Given the description of an element on the screen output the (x, y) to click on. 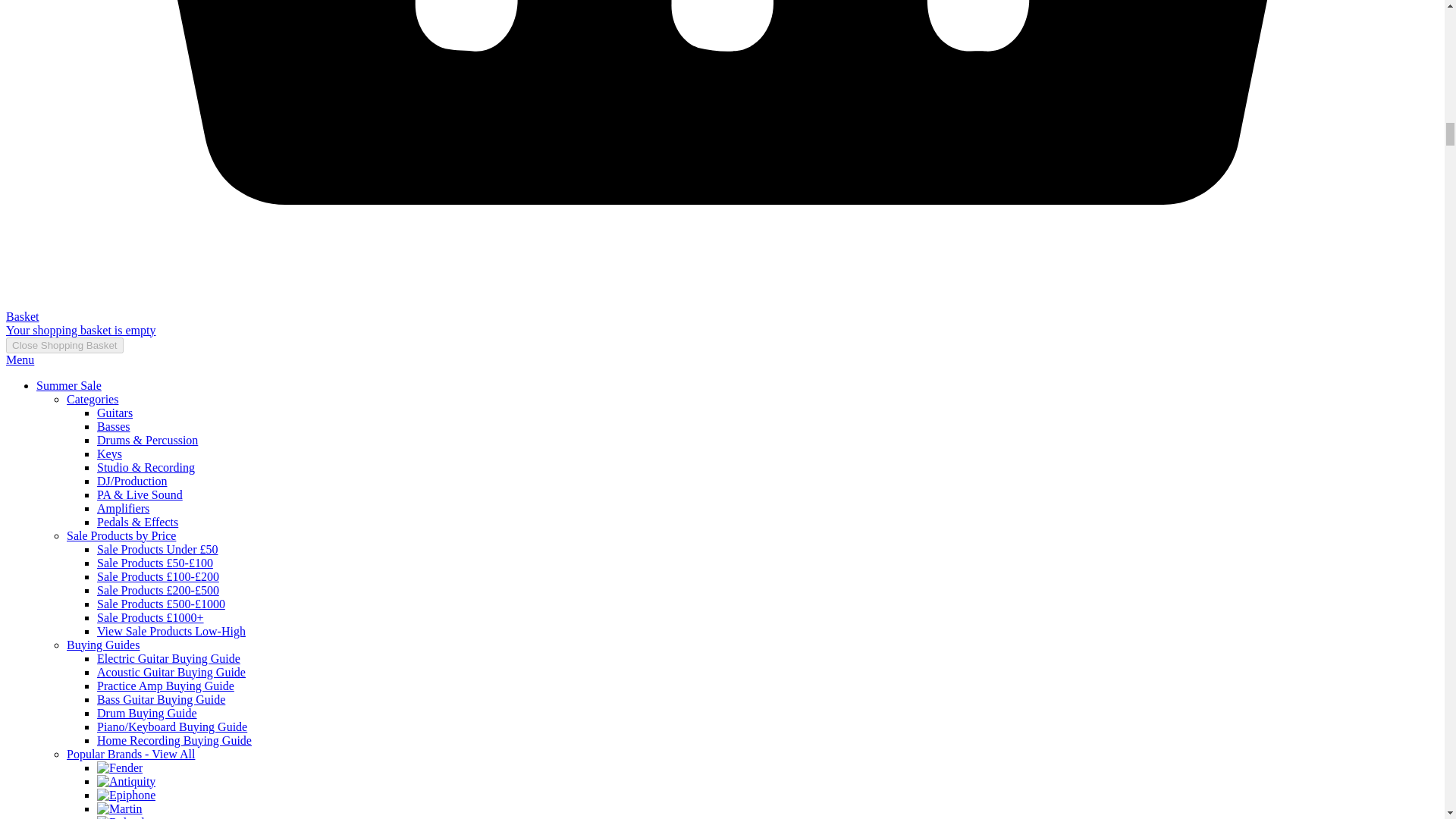
Close Shopping Basket (64, 344)
View Sale Products Low-High (171, 631)
Guitars (114, 412)
Acoustic Guitar Buying Guide (171, 671)
Drum Buying Guide (146, 712)
Keys (109, 453)
Summer Sale (68, 385)
Buying Guides (102, 644)
Practice Amp Buying Guide (165, 685)
Home Recording Buying Guide (174, 739)
Popular Brands - View All (130, 753)
Menu (19, 359)
Amplifiers (123, 508)
Sale Products by Price (121, 535)
Electric Guitar Buying Guide (168, 658)
